Given the description of an element on the screen output the (x, y) to click on. 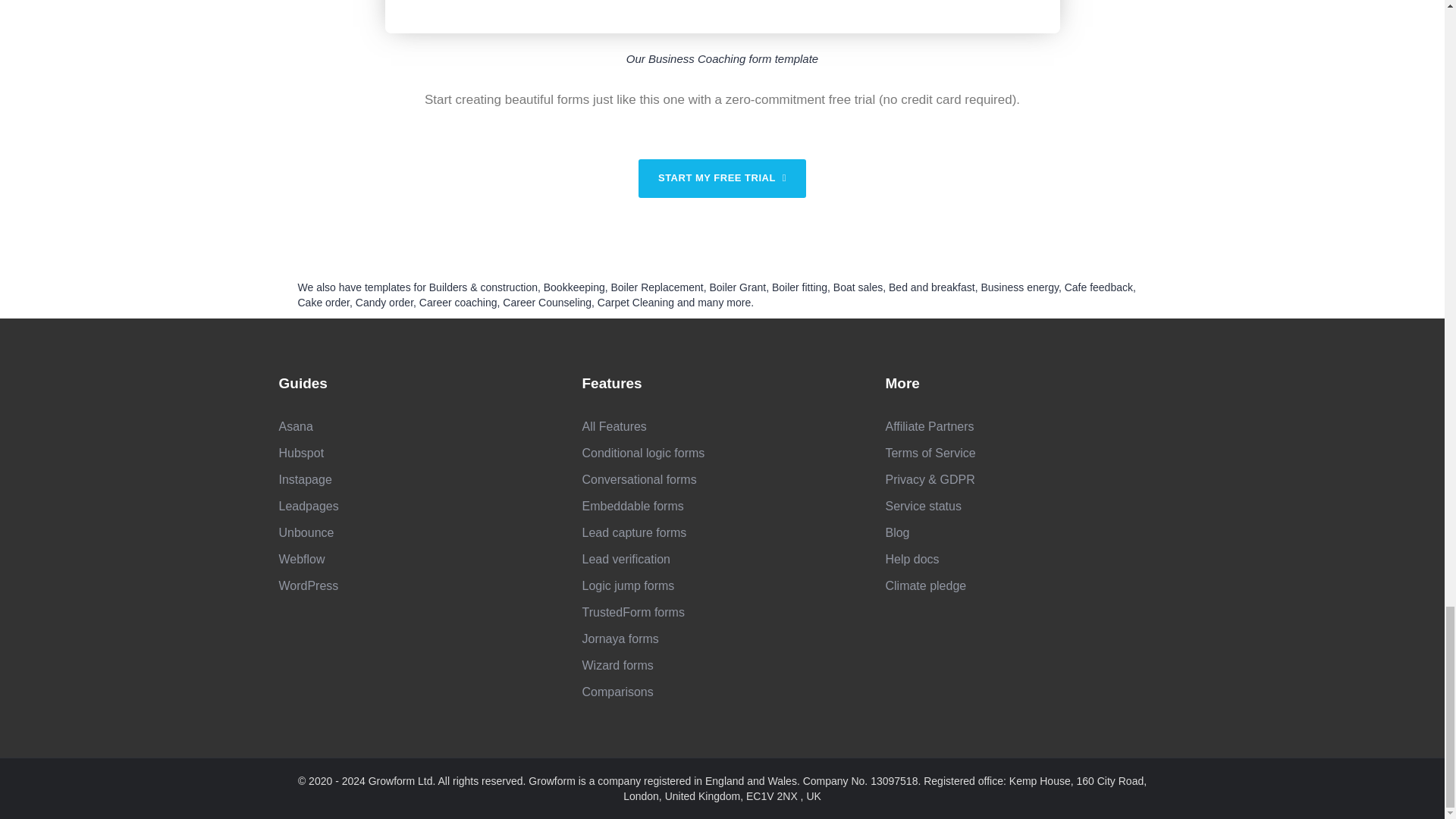
Carpet Cleaning (635, 302)
Business energy (1018, 287)
Bed and breakfast (931, 287)
START MY FREE TRIAL (722, 178)
Boiler fitting (799, 287)
Conversational forms (637, 479)
Candy order (384, 302)
Bookkeeping (574, 287)
Career coaching (458, 302)
Embeddable forms (631, 506)
Career Counseling (546, 302)
All Features (613, 426)
Webflow (301, 559)
Hubspot (301, 452)
Conditional logic forms (642, 452)
